Given the description of an element on the screen output the (x, y) to click on. 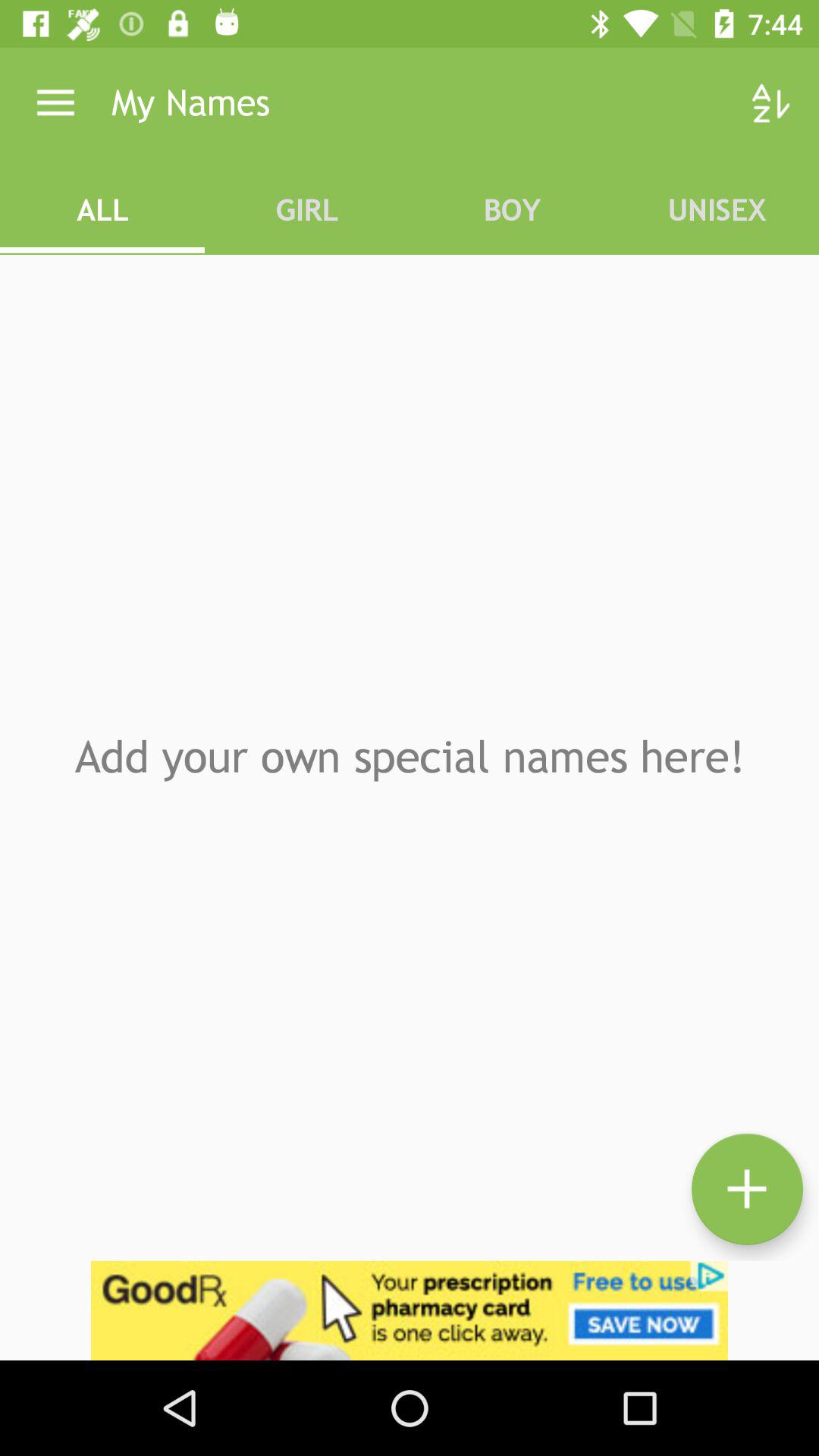
add button (747, 1188)
